Given the description of an element on the screen output the (x, y) to click on. 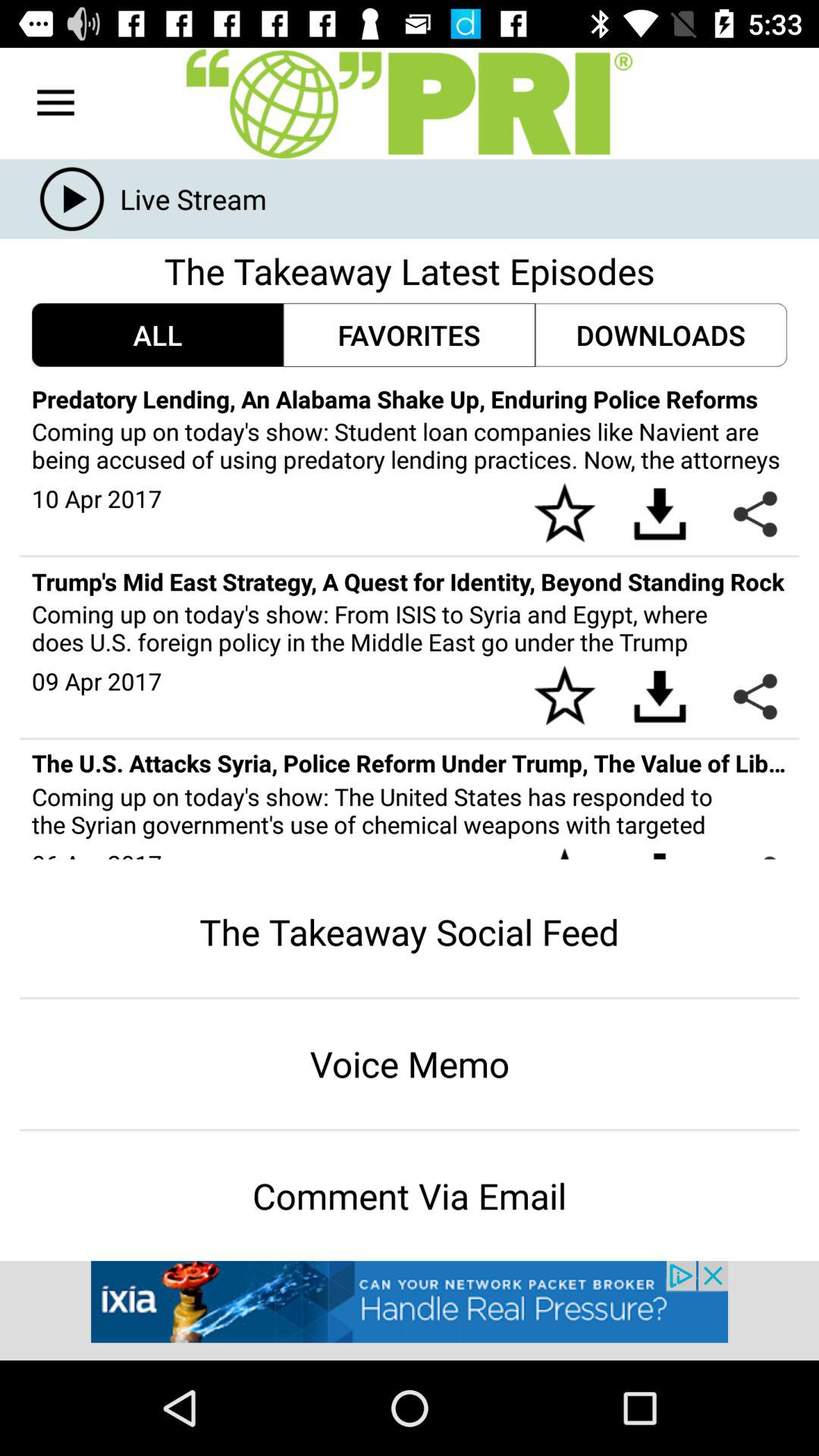
company name (409, 103)
